Given the description of an element on the screen output the (x, y) to click on. 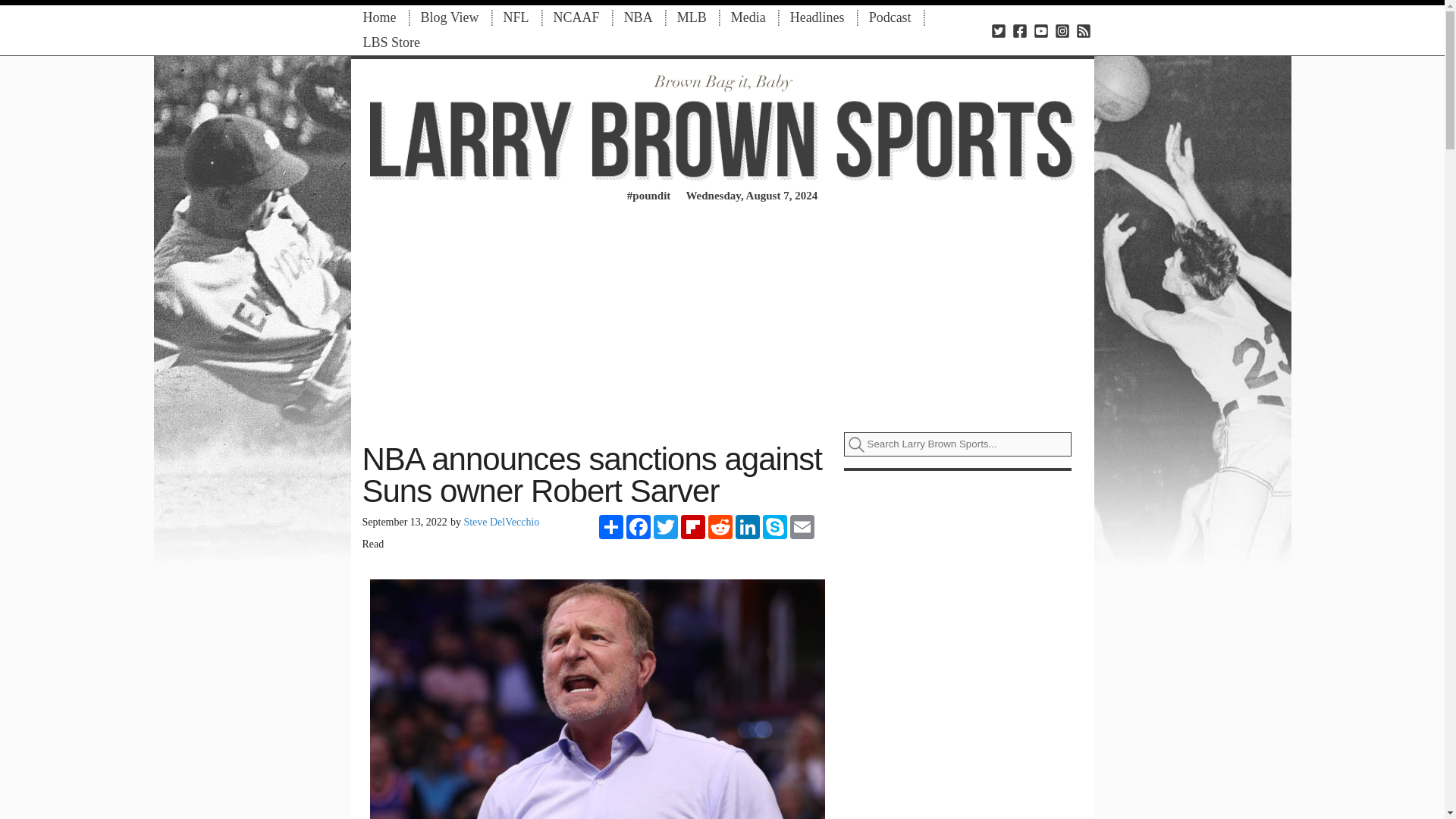
Subscribe to Larry Brown Sports RSS Feed (1082, 29)
Flipboard (692, 526)
Twitter (665, 526)
Blog View (448, 17)
Media (748, 17)
LBS Store (391, 42)
View Larry Brown Sports Twitter (998, 29)
MLB (692, 17)
View Larry Brown Sports Facebook (1018, 29)
Home (378, 17)
Facebook (638, 526)
NCAAF (576, 17)
View Larry Brown Sports Instagram (1061, 29)
View Larry Brown Sports Youtube (1040, 29)
Steve DelVecchio (500, 521)
